Given the description of an element on the screen output the (x, y) to click on. 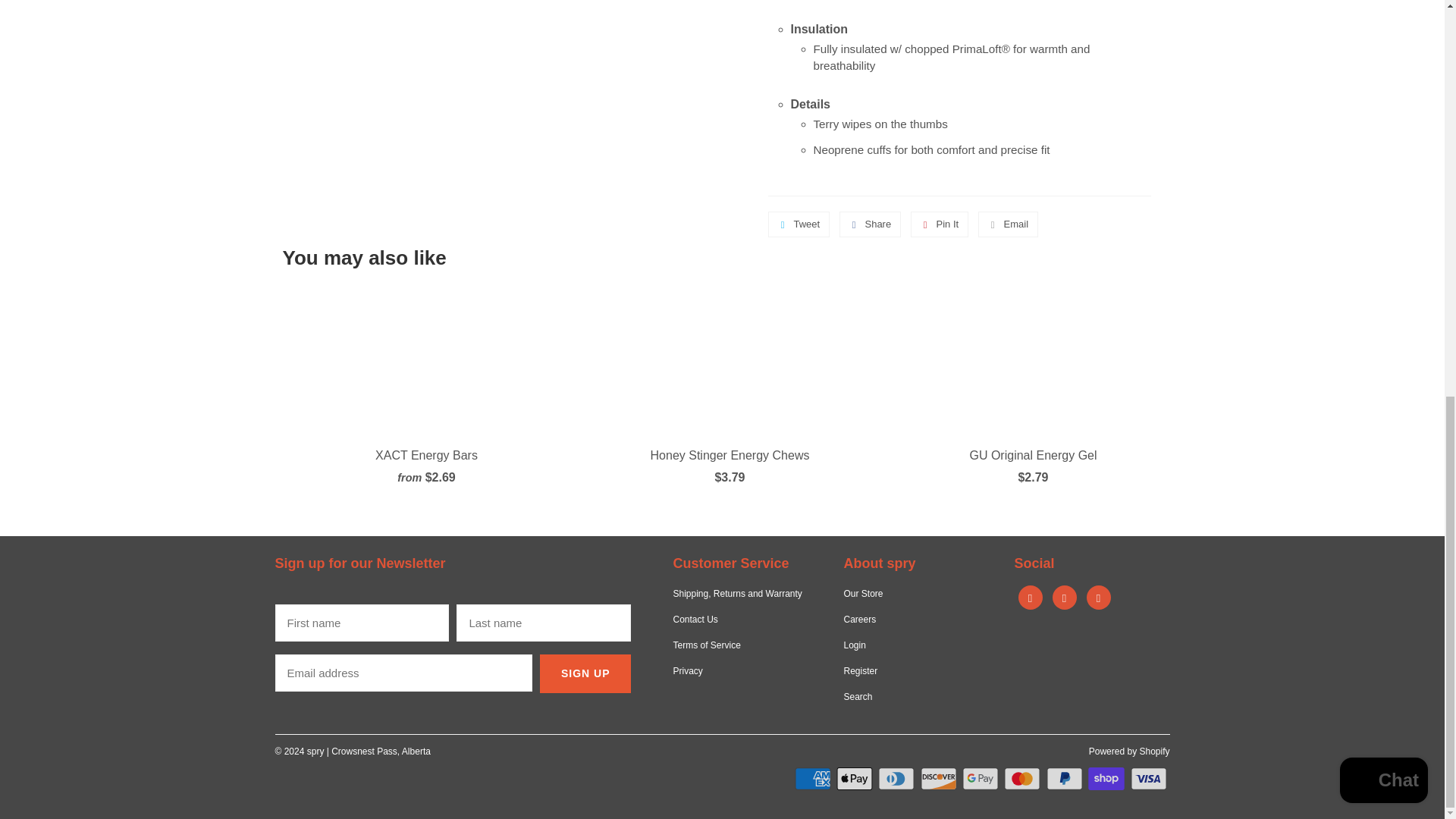
Share this on Facebook (870, 224)
Shop Pay (1106, 778)
Email this to a friend (1008, 224)
Discover (939, 778)
American Express (814, 778)
Mastercard (1023, 778)
Diners Club (897, 778)
Email spry (1097, 597)
Share this on Pinterest (940, 224)
spry on Instagram (1064, 597)
